Given the description of an element on the screen output the (x, y) to click on. 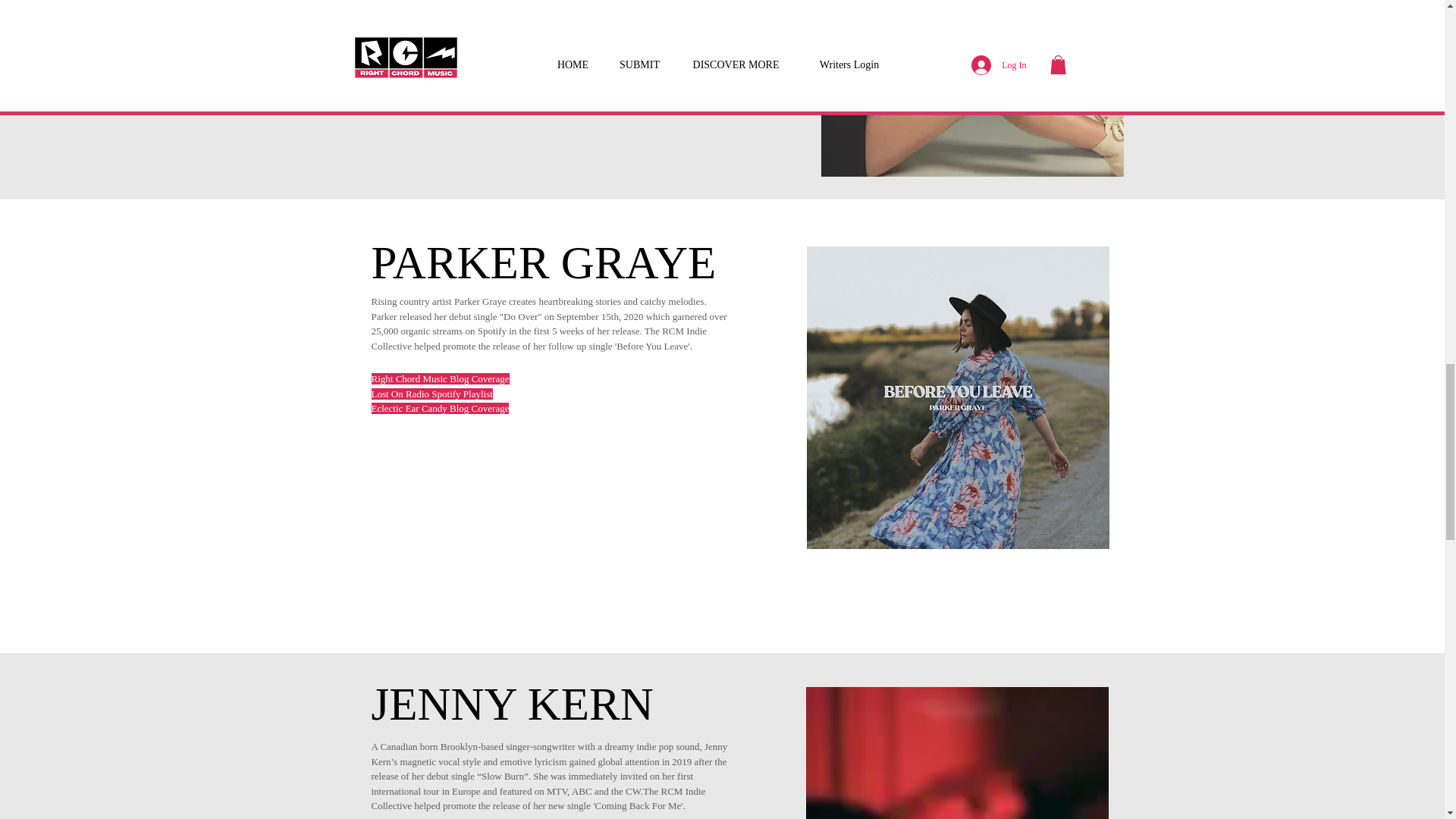
Right Chord Music Blog Coverage (440, 378)
Tonitruale Blog Coverage (420, 20)
Eclectic Ear Candy Blog Coverage (440, 408)
Lost On Radio Spotify Playlist (432, 393)
Right Chord Music Blog Coverage (438, 5)
